Given the description of an element on the screen output the (x, y) to click on. 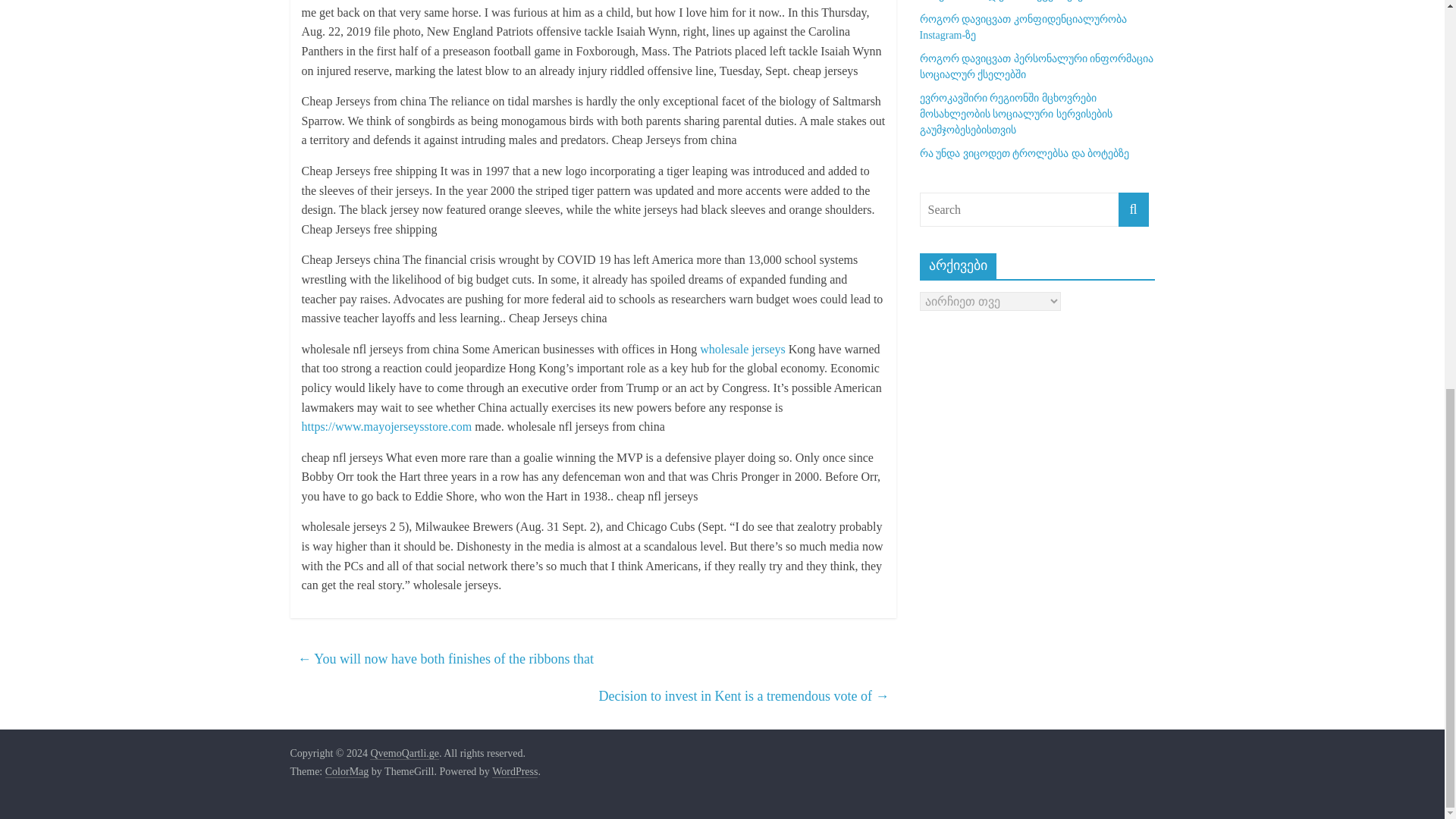
ColorMag (346, 771)
ColorMag (346, 771)
wholesale jerseys (742, 349)
WordPress (514, 771)
WordPress (514, 771)
QvemoQartli.ge (404, 753)
QvemoQartli.ge (404, 753)
